Given the description of an element on the screen output the (x, y) to click on. 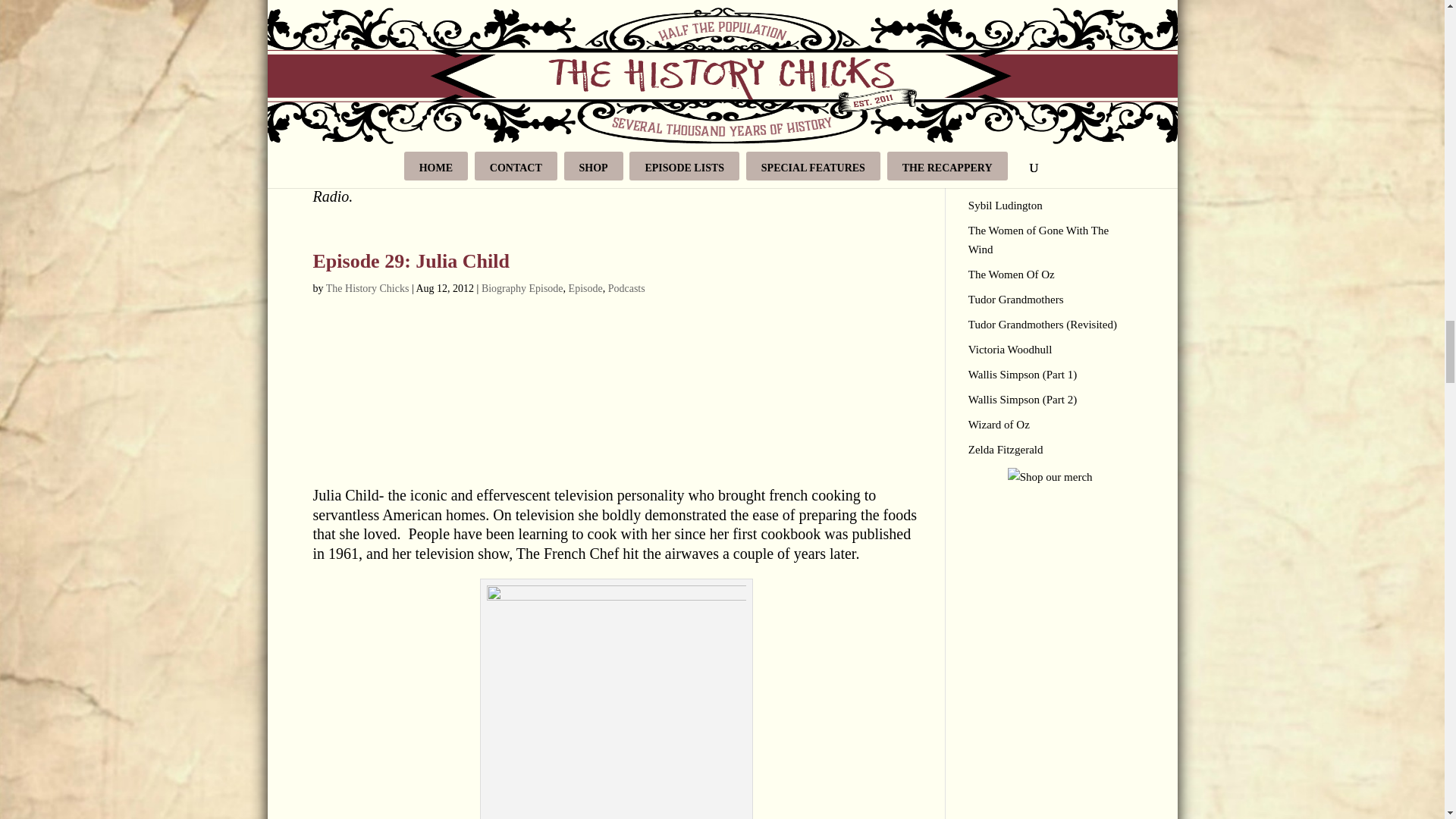
Posts by The History Chicks (367, 288)
shrunkJuliaChildLG (615, 702)
